Given the description of an element on the screen output the (x, y) to click on. 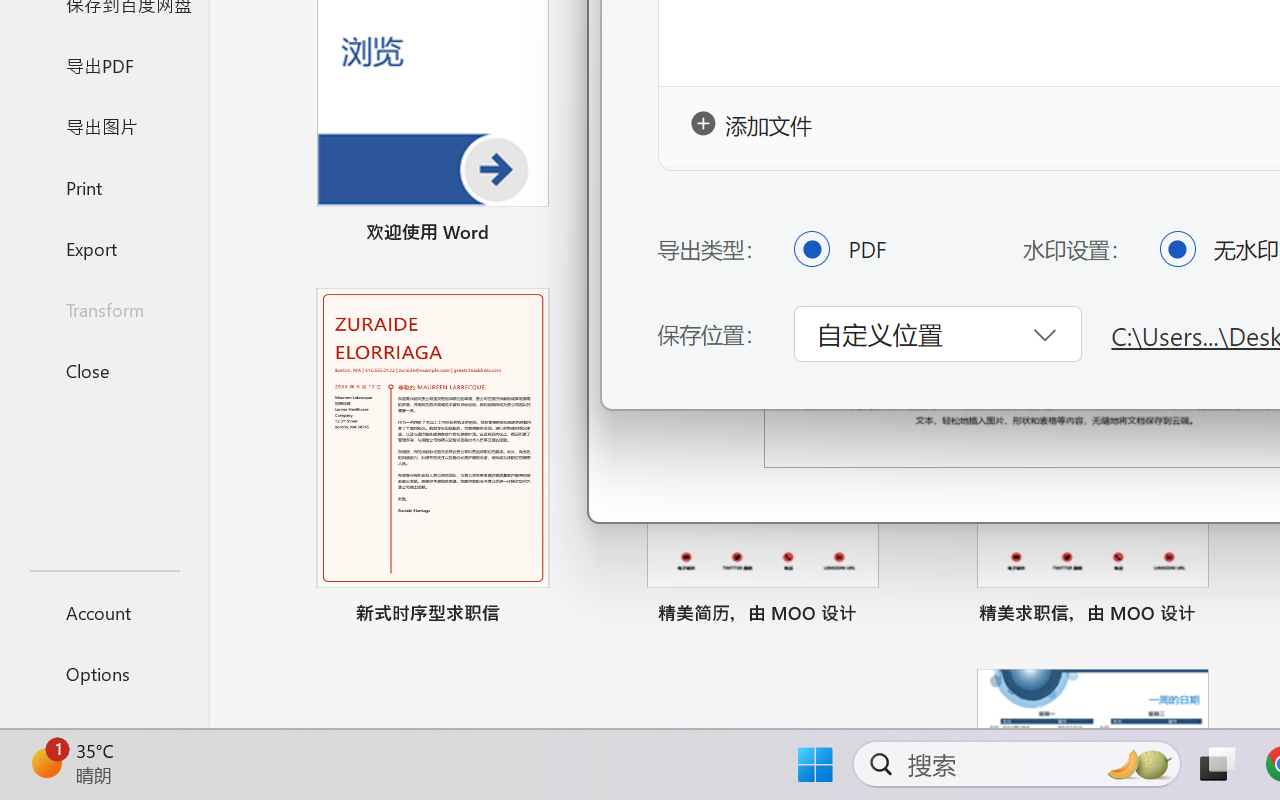
Print (104, 186)
Options (104, 673)
PDF (811, 248)
